Given the description of an element on the screen output the (x, y) to click on. 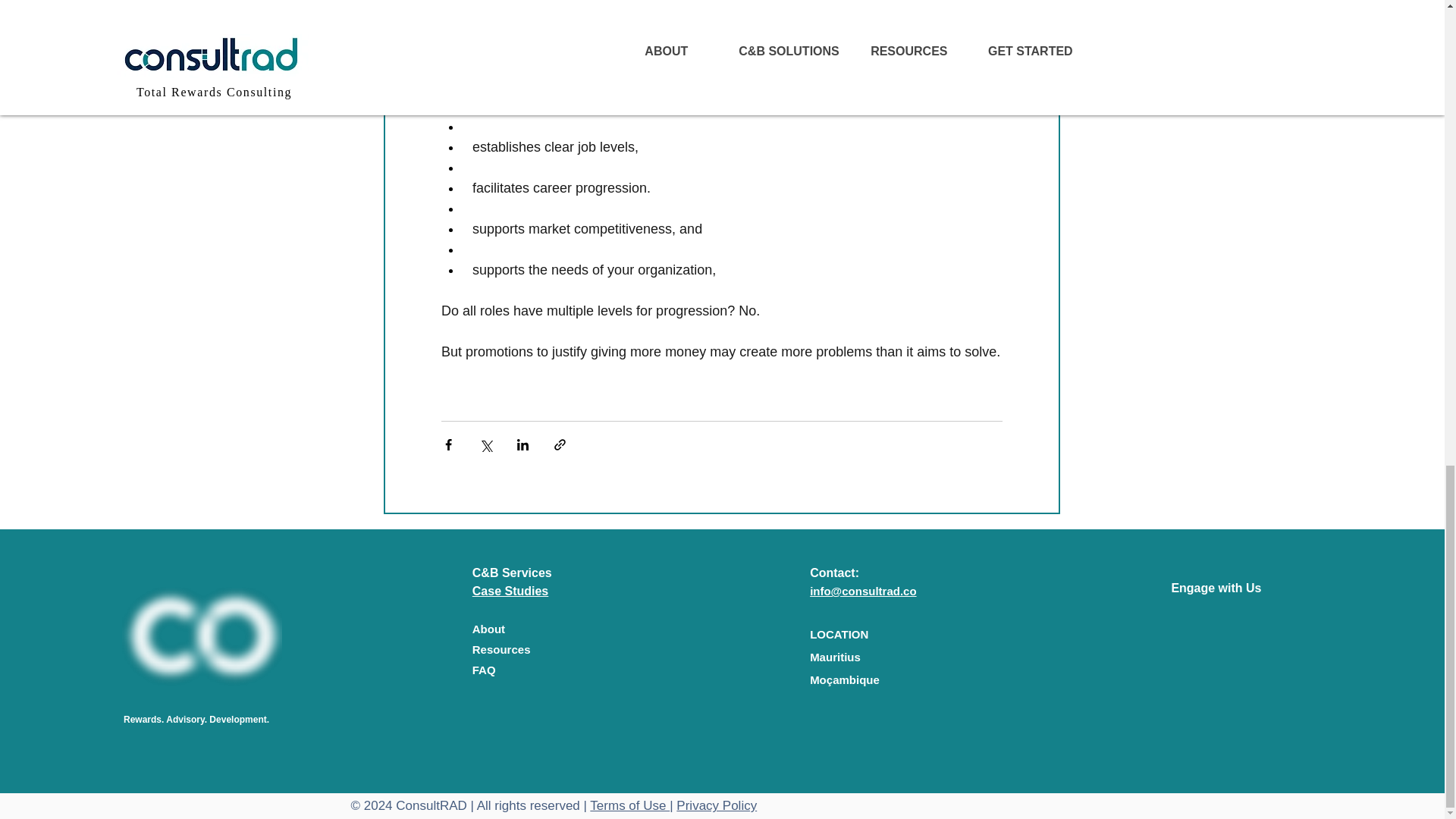
About (488, 628)
Privacy Policy (717, 805)
Resources (501, 649)
Terms of Use (629, 805)
Case Studies (509, 590)
Contact: (834, 572)
FAQ (483, 669)
logo teal and tagline.JPG (202, 640)
